Given the description of an element on the screen output the (x, y) to click on. 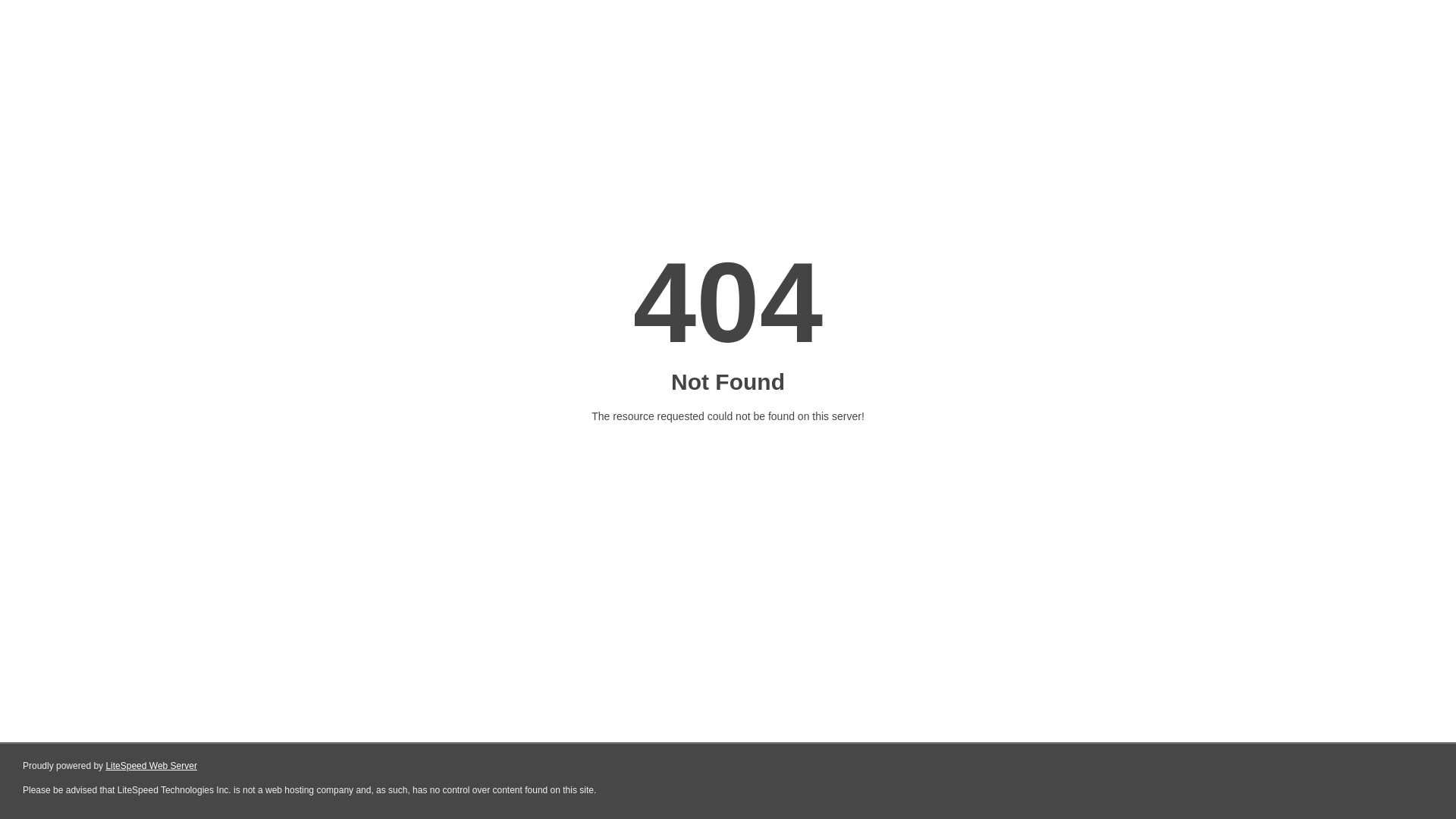
LiteSpeed Web Server Element type: text (151, 765)
